Given the description of an element on the screen output the (x, y) to click on. 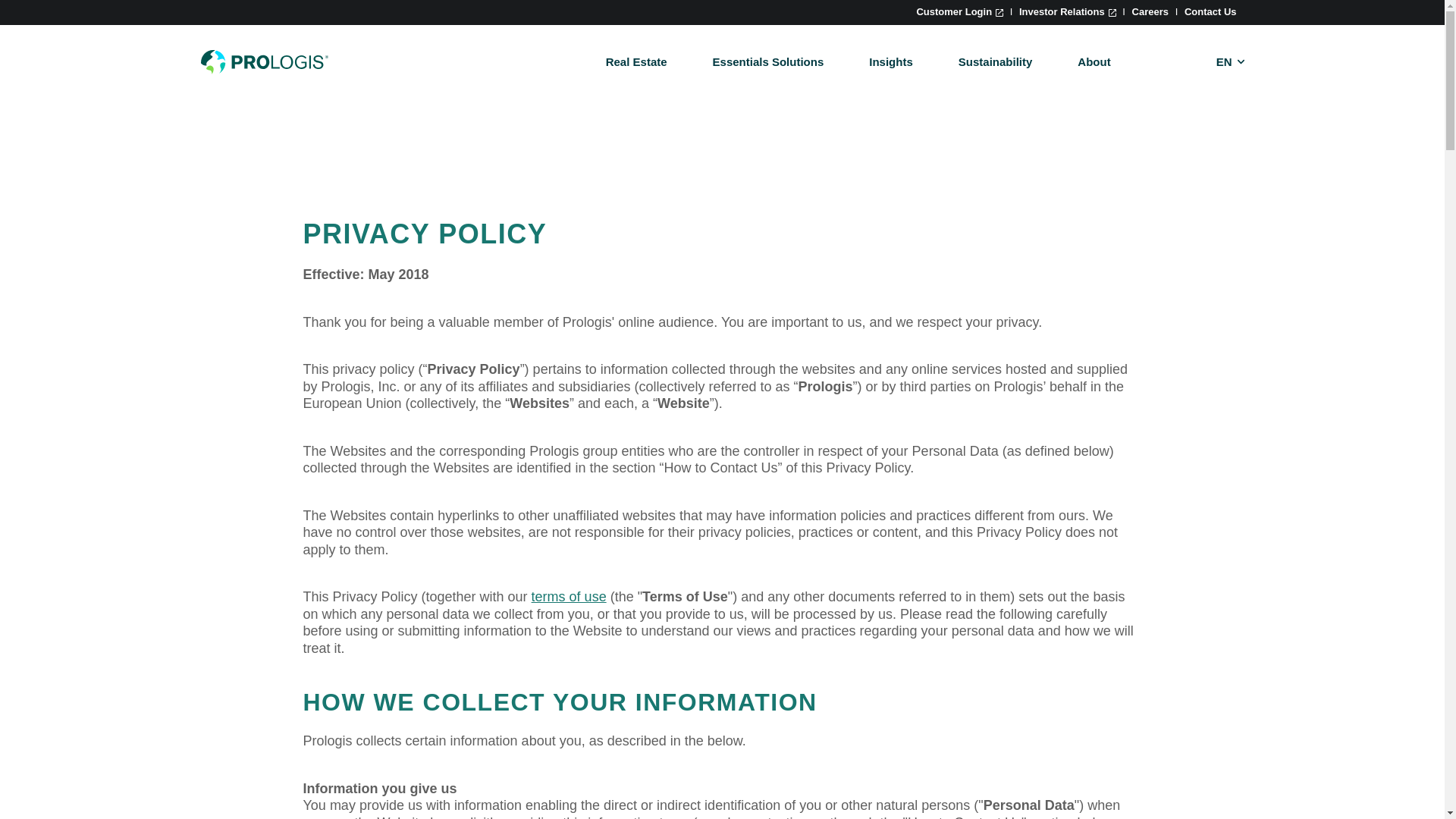
Essentials Solutions (768, 61)
Login to Prologis Essentials (959, 11)
Insights (890, 61)
Careers (1150, 11)
Customer Login (959, 11)
Contact Us (1210, 11)
Home (263, 62)
Search (905, 189)
Investor Relations (1067, 11)
Careers (1150, 11)
